Given the description of an element on the screen output the (x, y) to click on. 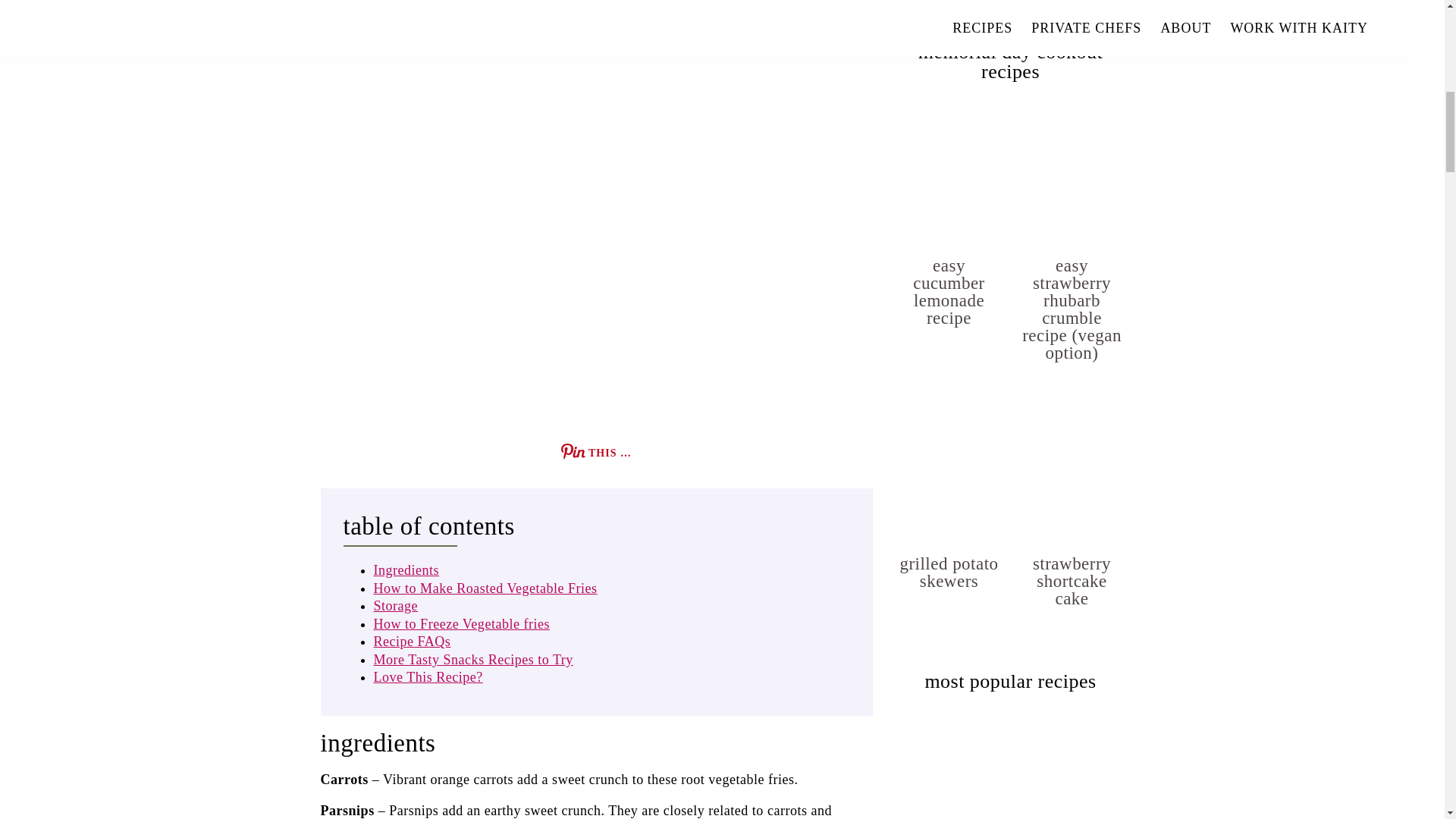
Recipe FAQs (410, 641)
Love This Recipe? (426, 676)
How to Make Roasted Vegetable Fries (484, 588)
DIY Rose Water Recipe (1071, 763)
How to Freeze Vegetable fries (460, 623)
Storage (394, 605)
More Tasty Snacks Recipes to Try (472, 659)
Ingredients (405, 570)
